Given the description of an element on the screen output the (x, y) to click on. 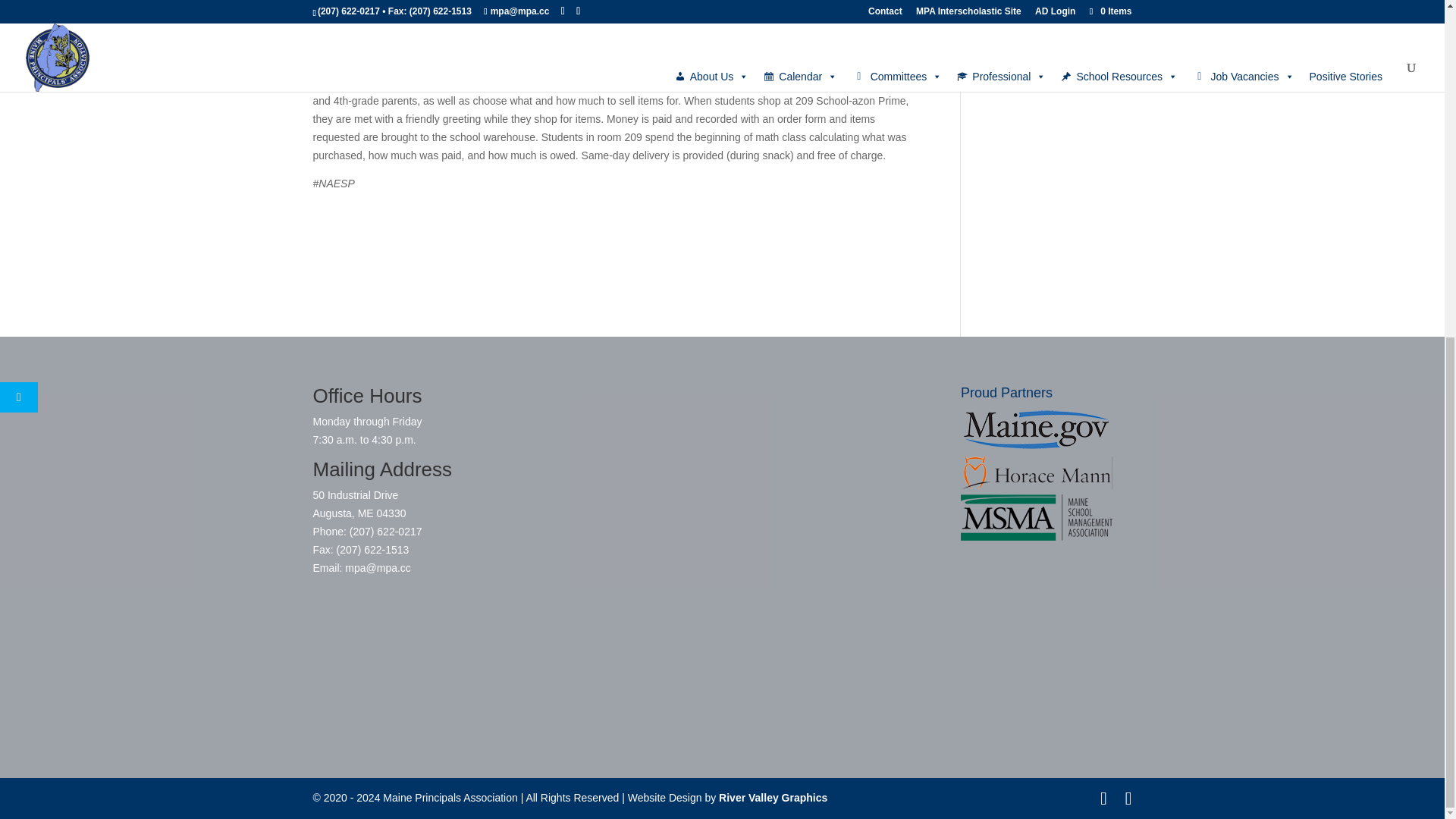
Horace Mann Insurance (1036, 472)
Maine State Department of Education (1036, 428)
Maine School Management (1036, 517)
